Given the description of an element on the screen output the (x, y) to click on. 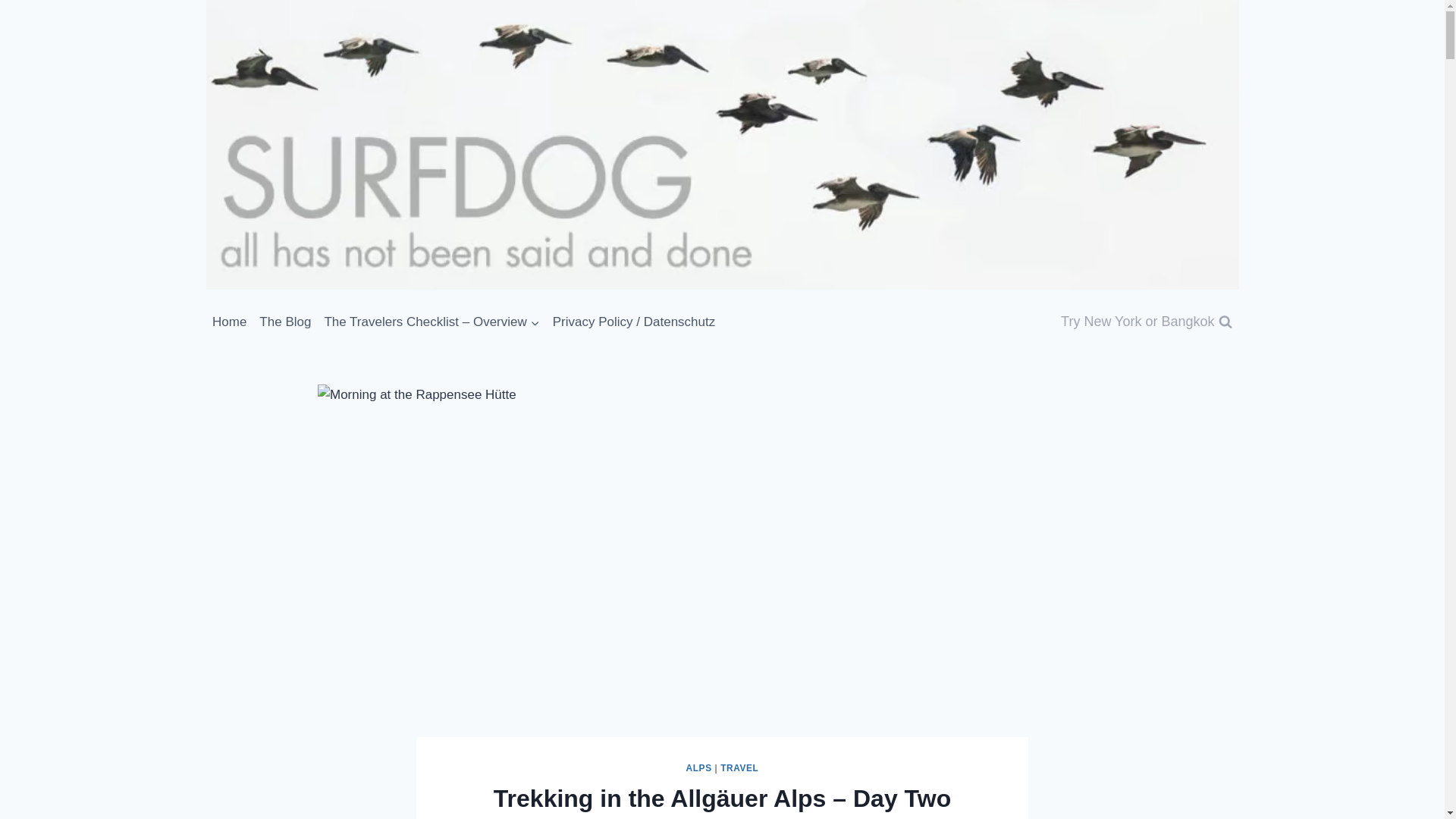
Home (229, 321)
ALPS (698, 767)
Home (229, 321)
Try New York or Bangkok (1146, 321)
The Blog (285, 321)
TRAVEL (739, 767)
